Given the description of an element on the screen output the (x, y) to click on. 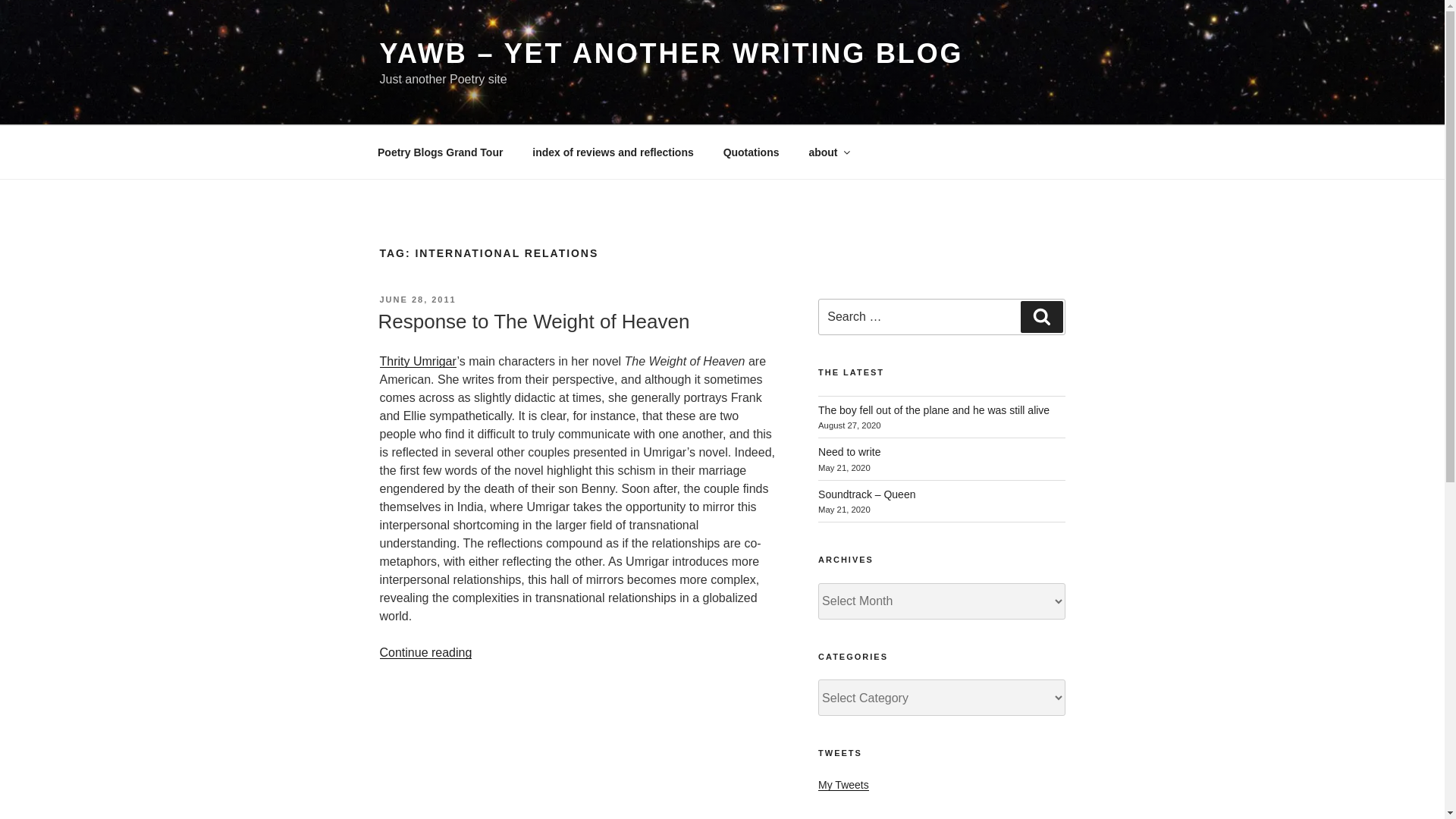
Thrity Umrigar (417, 360)
Quotations (751, 151)
Poetry Blogs Grand Tour (439, 151)
Response to The Weight of Heaven (532, 321)
Search (1041, 316)
JUNE 28, 2011 (416, 298)
about (827, 151)
Need to write (849, 451)
My Tweets (843, 784)
The boy fell out of the plane and he was still alive (933, 410)
index of reviews and reflections (612, 151)
Thrity Umrigar (417, 360)
